Given the description of an element on the screen output the (x, y) to click on. 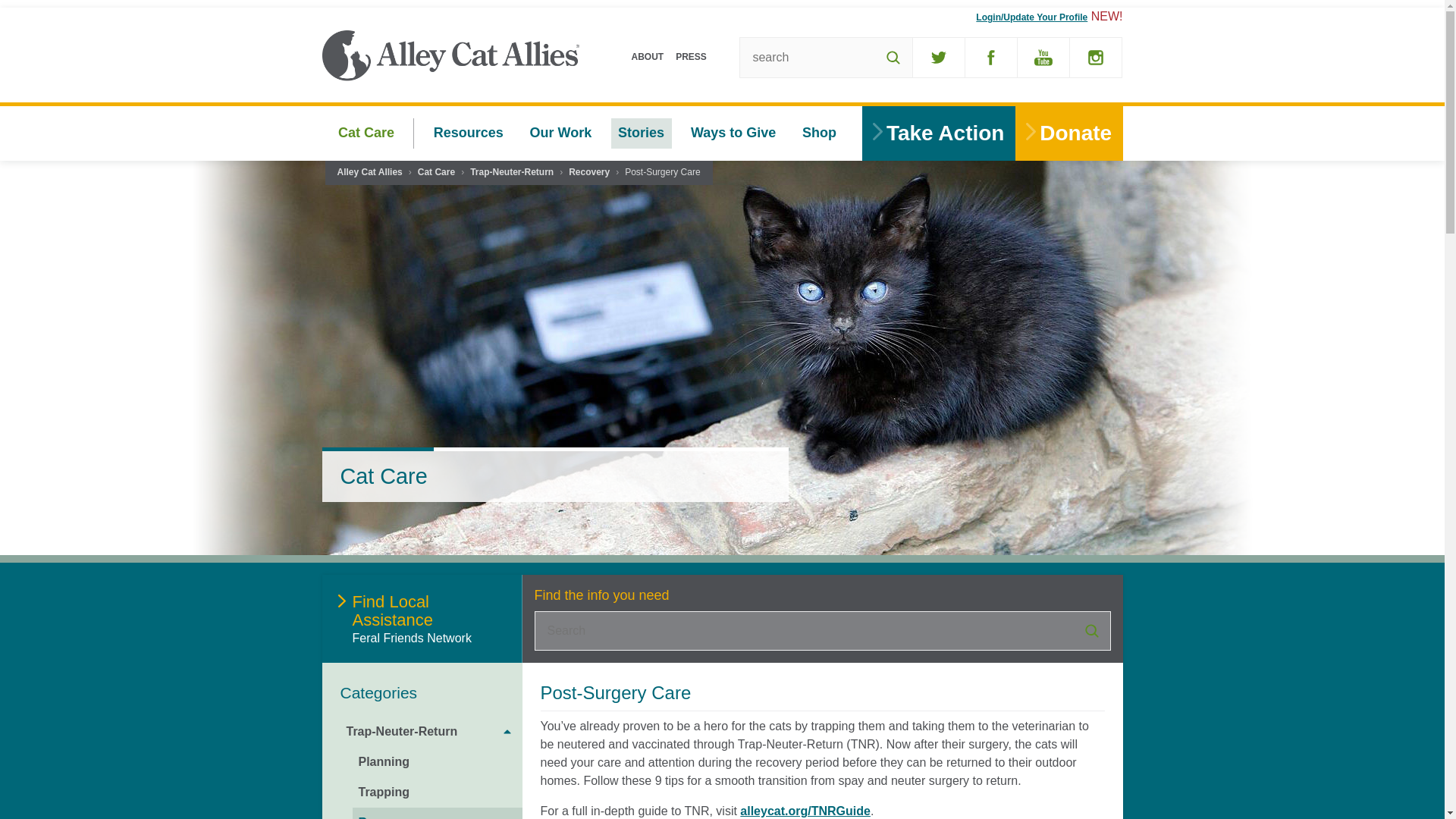
Submit (1090, 630)
Go to Community Cat Care. (435, 173)
Take Action (937, 133)
Ways to Give (733, 132)
Search (893, 56)
Stories (641, 132)
Go to Alley Cat Allies. (368, 173)
YouTube (1042, 56)
Cat Care (365, 132)
Resources (468, 132)
